Given the description of an element on the screen output the (x, y) to click on. 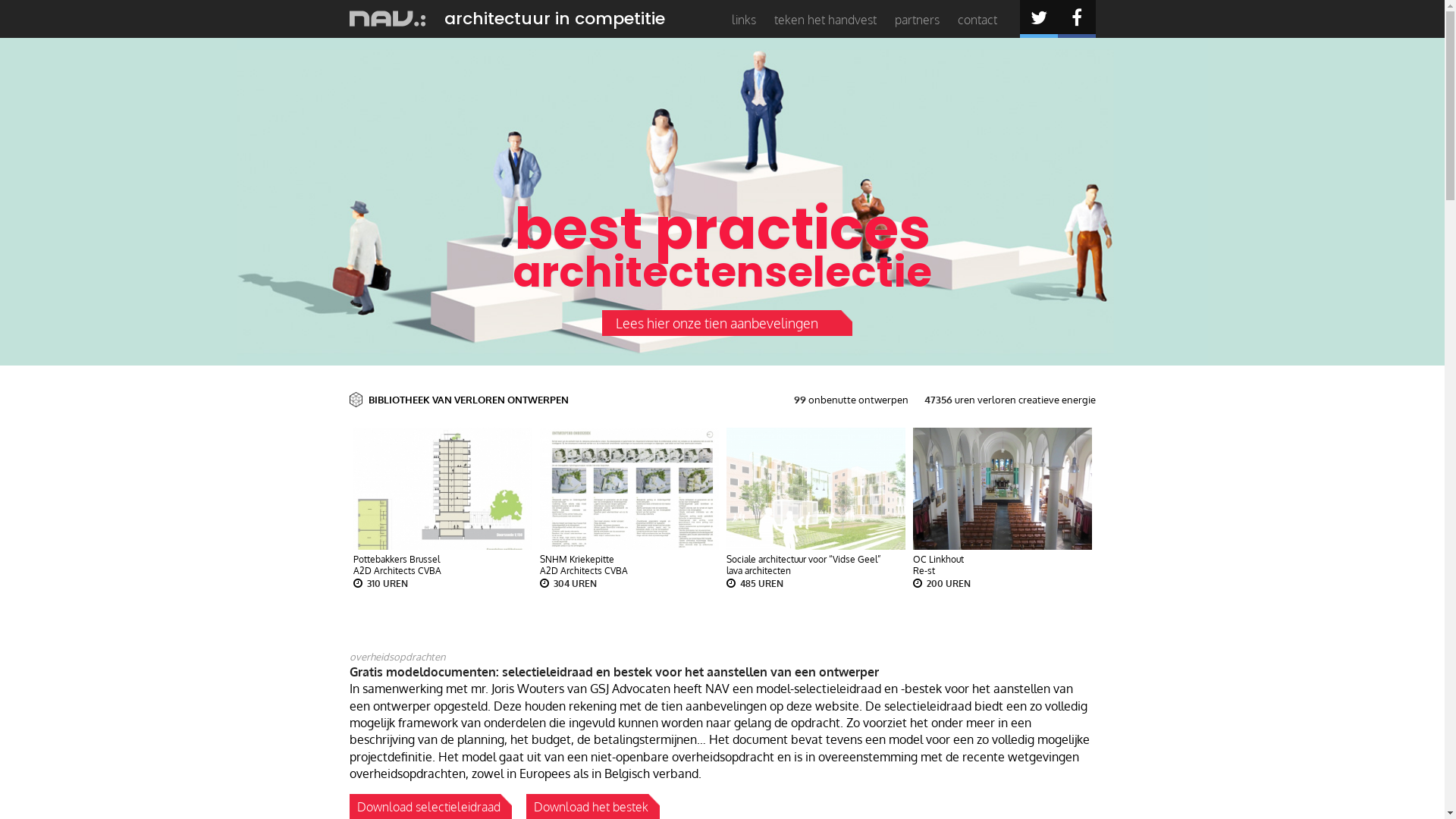
BIBLIOTHEEK VAN VERLOREN ONTWERPEN Element type: text (468, 399)
99 onbenutte ontwerpen Element type: text (850, 399)
architectuur in competitie Element type: text (554, 18)
Lees hier onze tien aanbevelingen Element type: text (722, 322)
teken het handvest Element type: text (824, 19)
47356 uren verloren creatieve energie Element type: text (1009, 399)
links Element type: text (742, 19)
contact Element type: text (983, 19)
partners Element type: text (916, 19)
